Given the description of an element on the screen output the (x, y) to click on. 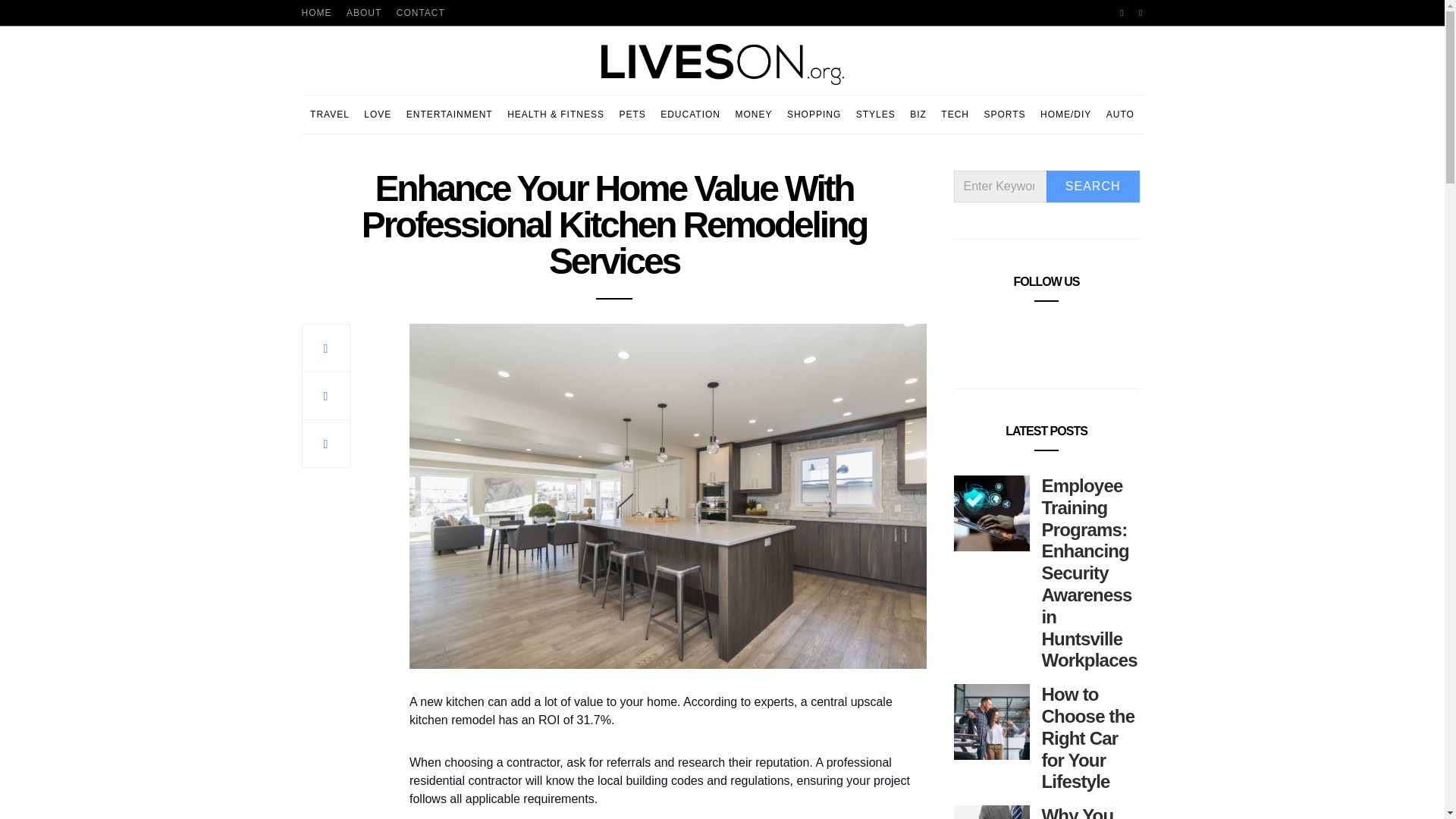
ENTERTAINMENT (449, 114)
SHOPPING (814, 114)
BIZ (918, 114)
AUTO (1120, 114)
SPORTS (1004, 114)
LOVE (377, 114)
CONTACT (420, 12)
STYLES (875, 114)
TECH (954, 114)
TRAVEL (329, 114)
HOME (316, 12)
MONEY (753, 114)
ABOUT (363, 12)
EDUCATION (690, 114)
PETS (631, 114)
